Given the description of an element on the screen output the (x, y) to click on. 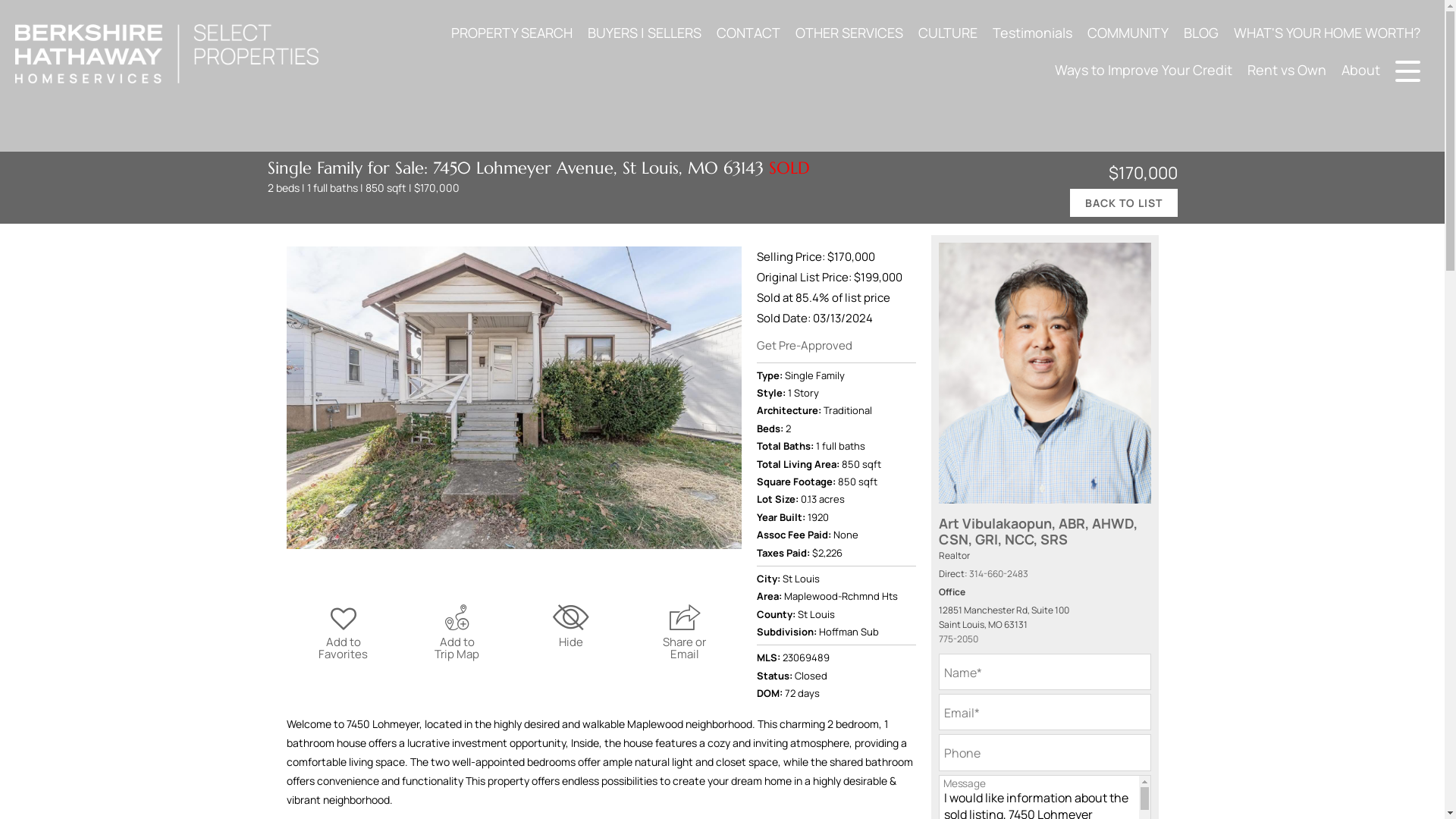
OTHER SERVICES (849, 32)
COMMUNITY (1128, 32)
CONTACT (748, 32)
CULTURE (948, 32)
Testimonials (1032, 32)
PROPERTY SEARCH (511, 32)
